Given the description of an element on the screen output the (x, y) to click on. 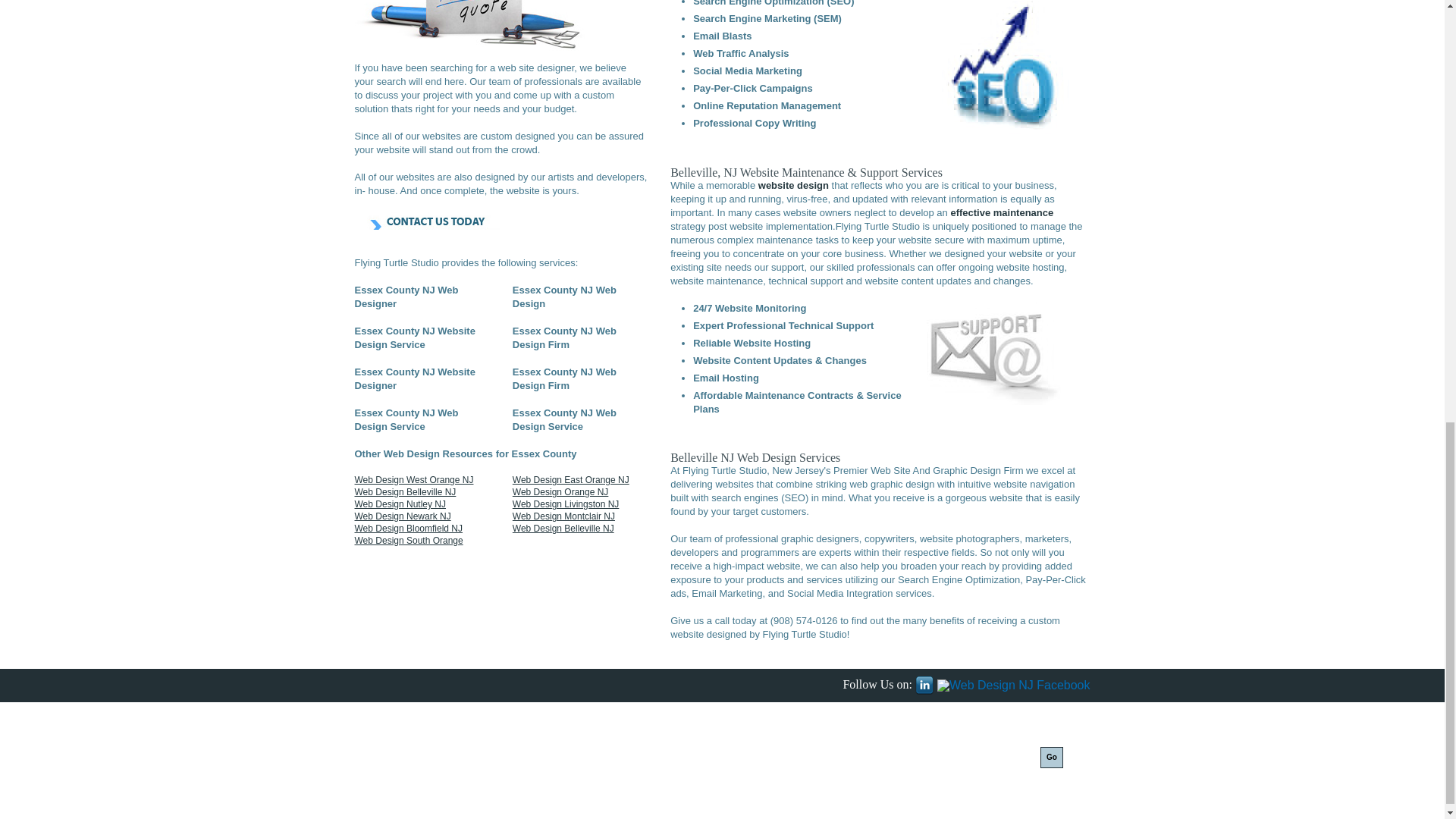
Essex County Web Design Newark NJ (403, 515)
Web Design Nutley NJ (400, 503)
Web Design Montclair NJ (563, 515)
Essex County Web Design West Orange (414, 479)
Essex County Web Design Belleville NJ (563, 528)
Web Design Orange NJ (560, 491)
Web Design South Orange (409, 540)
Web Design East Orange NJ (570, 479)
Go (1051, 757)
Essex County Web Design Bloomfield  NJ (409, 528)
Essex County Web Design South Orange (406, 491)
Web Design Newark NJ (403, 515)
Web Design West Orange NJ (414, 479)
Web Design Belleville NJ (406, 491)
Essex County Web Design Orange NJ (560, 491)
